Given the description of an element on the screen output the (x, y) to click on. 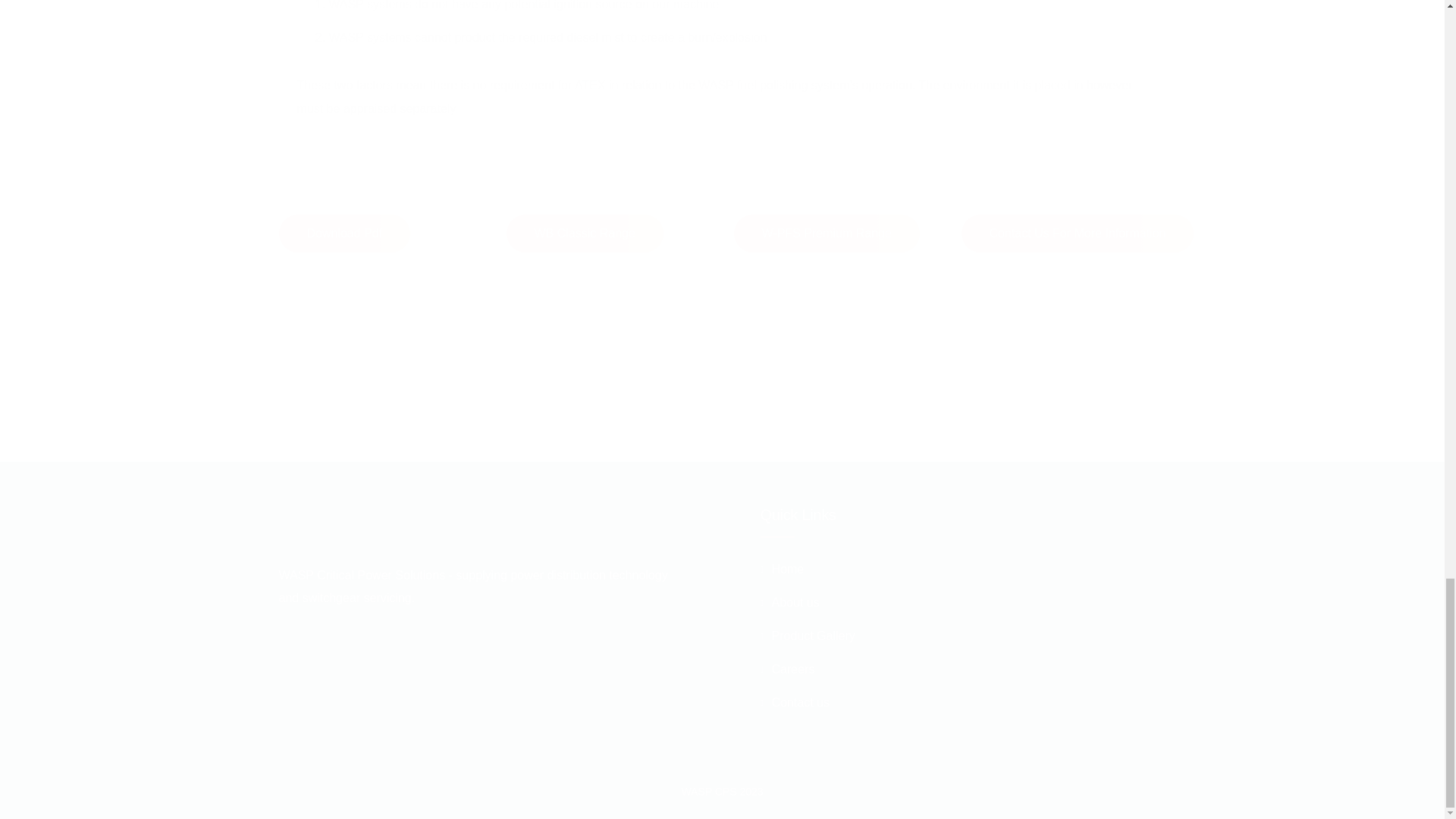
WB Classic Range (584, 233)
W-PFS Premium Range (826, 233)
Download Pdf (344, 233)
Contact Us For More Information (1076, 233)
